Given the description of an element on the screen output the (x, y) to click on. 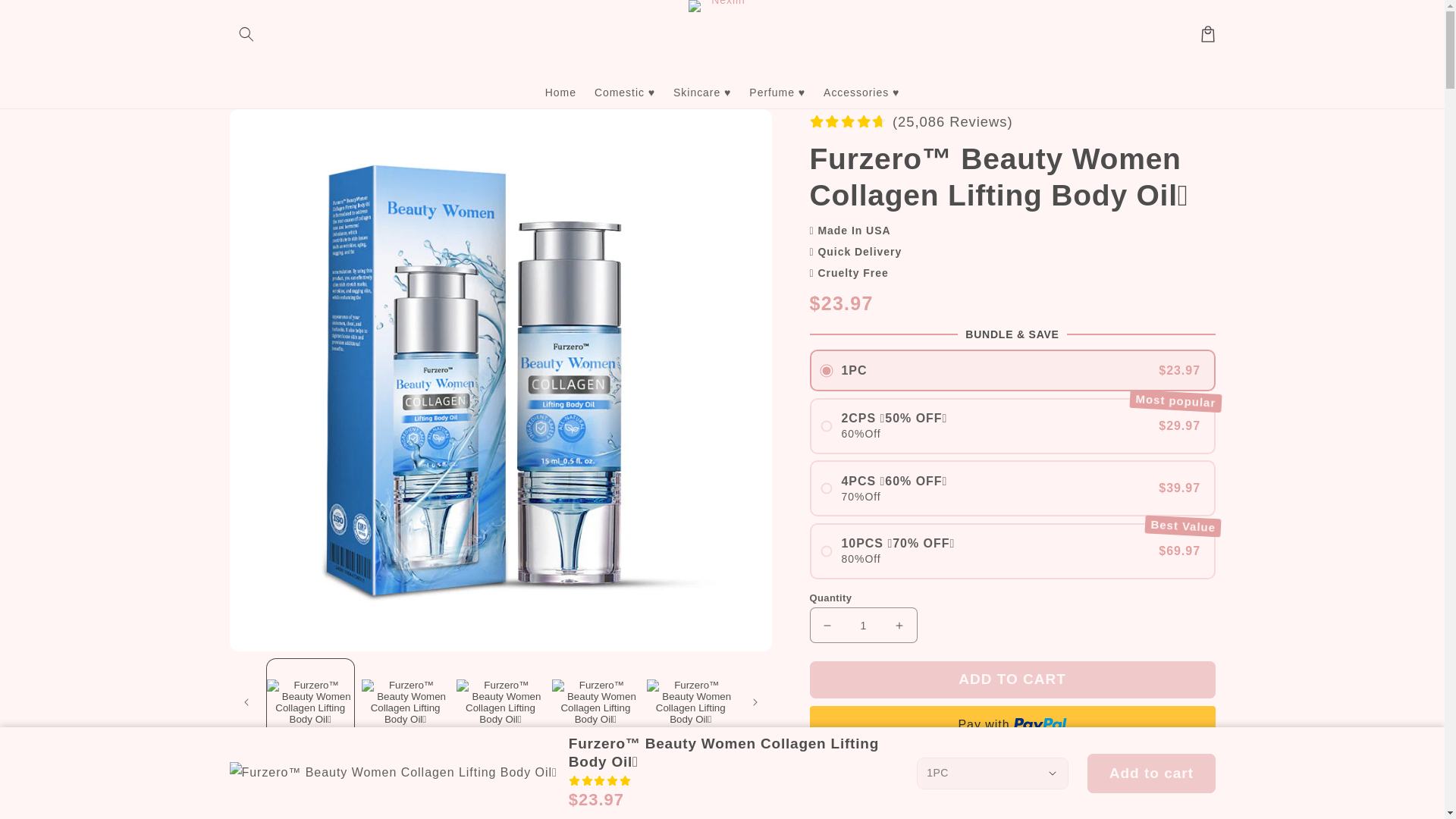
Skip to content (46, 18)
1 (863, 624)
Skip to product information (275, 126)
Cart (1207, 33)
Home (560, 91)
